Given the description of an element on the screen output the (x, y) to click on. 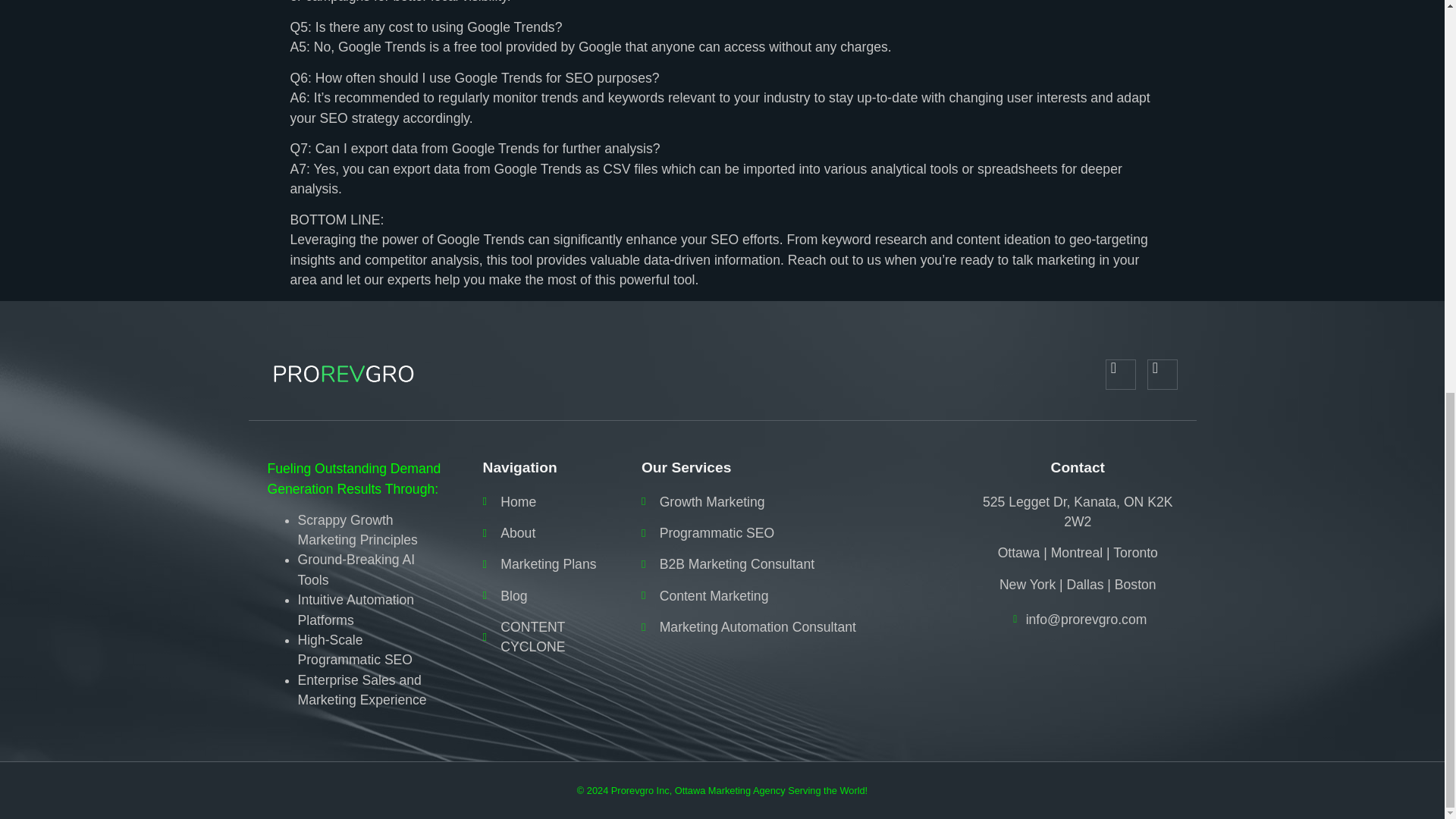
Home (543, 501)
B2B Marketing Consultant (791, 564)
About (543, 532)
CONTENT CYCLONE (543, 637)
Marketing Automation Consultant (791, 627)
Programmatic SEO (791, 532)
Marketing Plans (543, 564)
Content Marketing (791, 596)
Blog (543, 596)
Growth Marketing (791, 501)
